Given the description of an element on the screen output the (x, y) to click on. 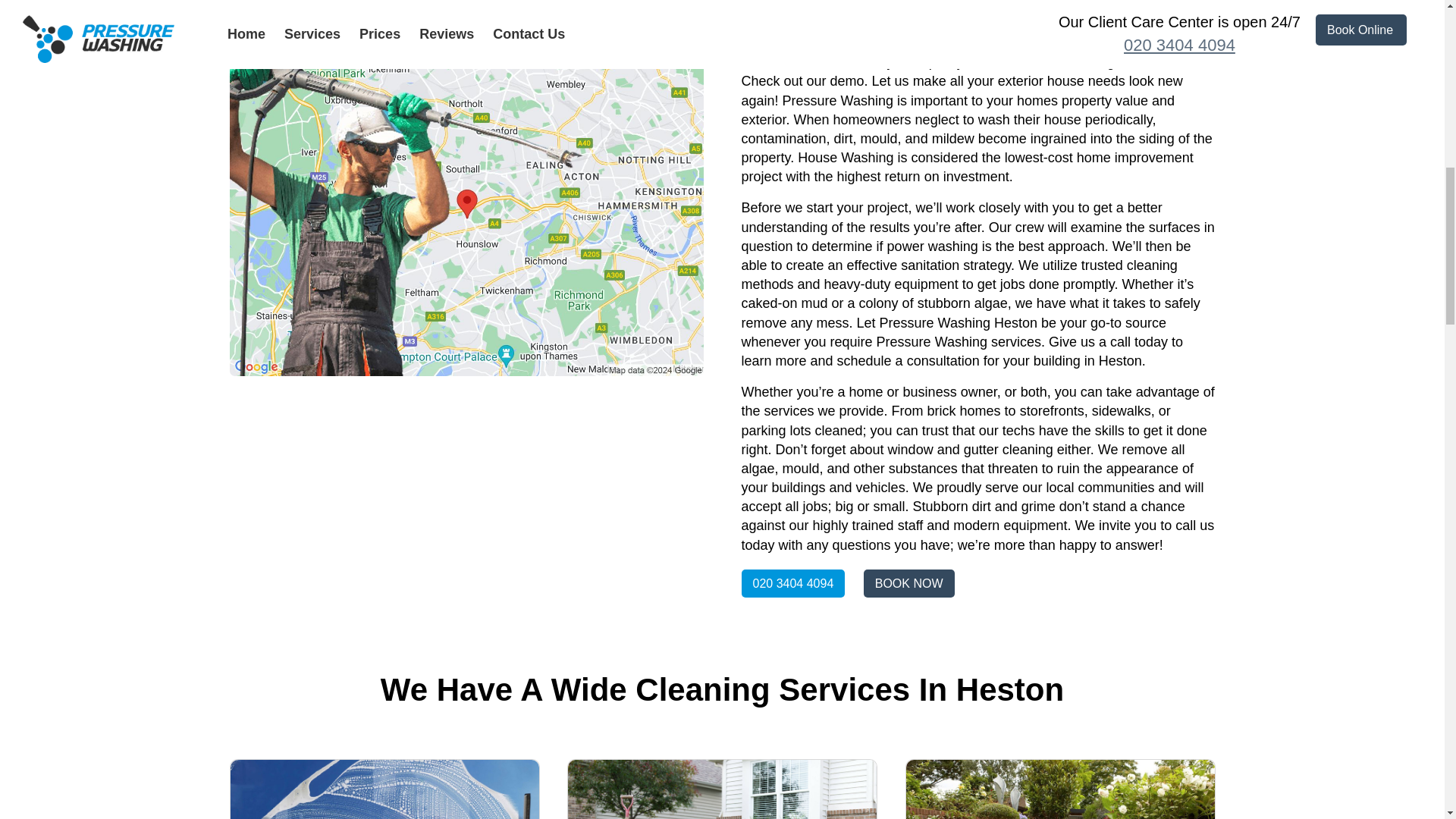
020 3404 4094 (793, 583)
BOOK NOW (909, 583)
